Given the description of an element on the screen output the (x, y) to click on. 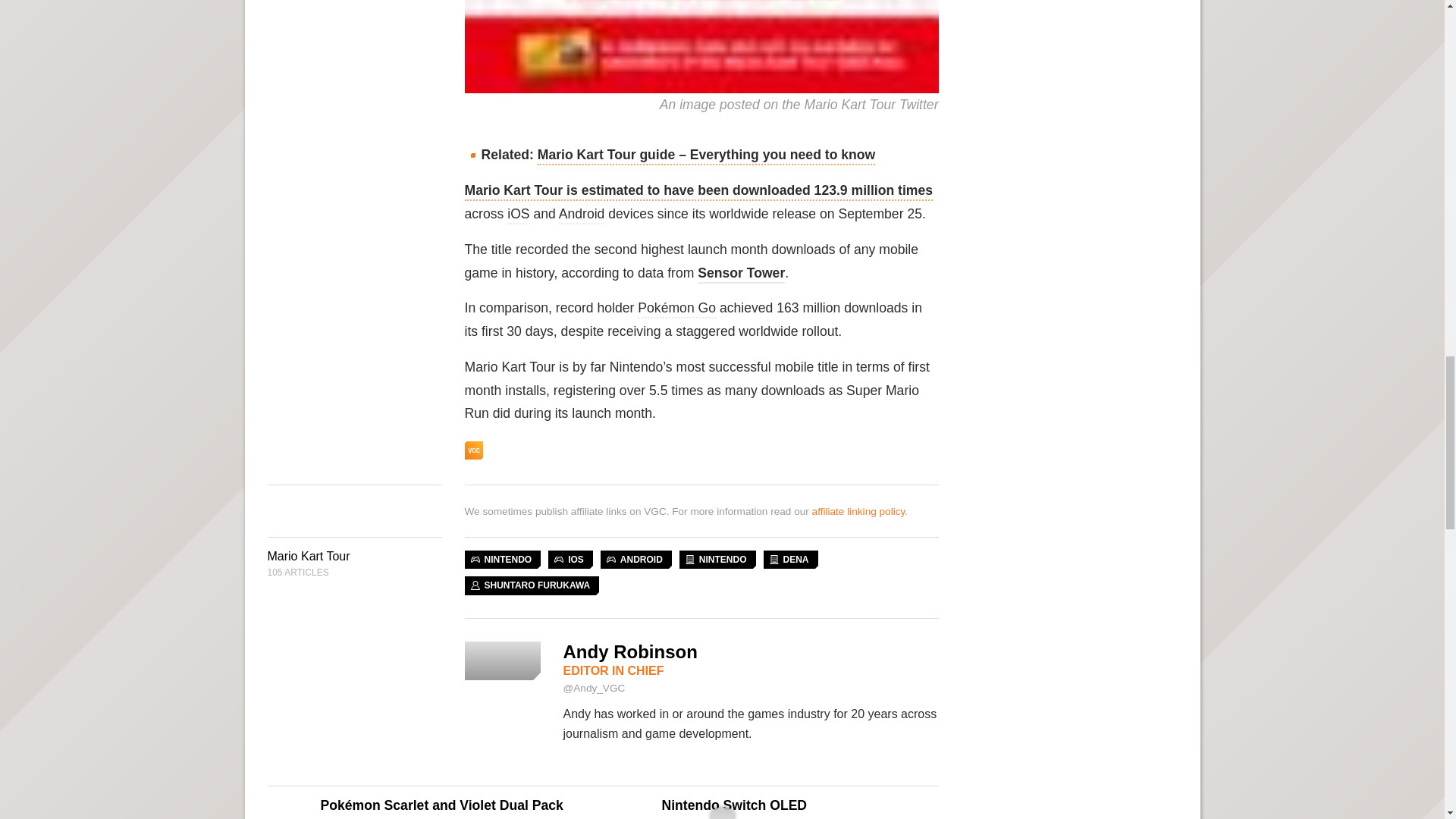
iOS (517, 215)
Android (582, 215)
